Given the description of an element on the screen output the (x, y) to click on. 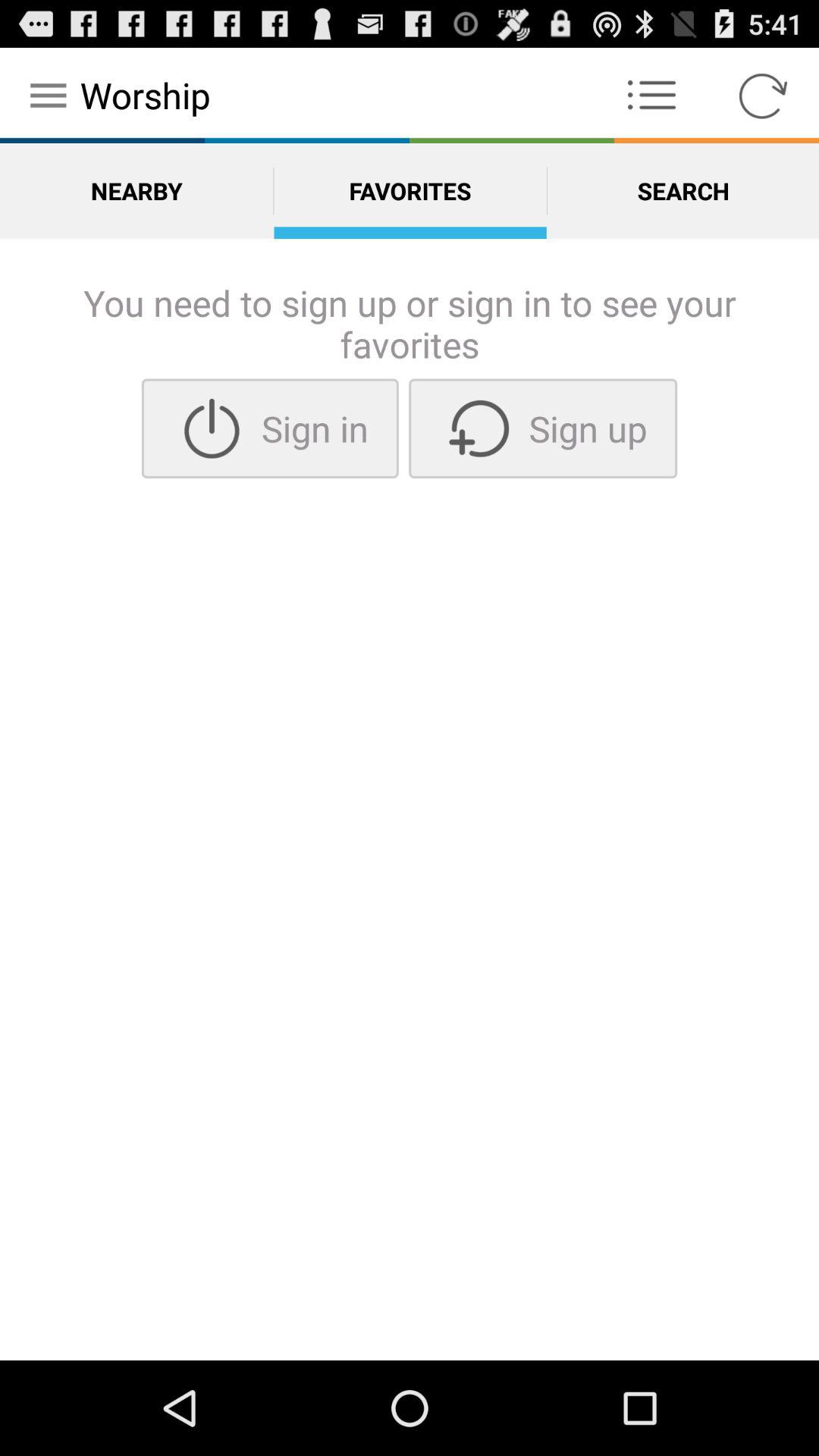
tap icon above search (651, 95)
